Given the description of an element on the screen output the (x, y) to click on. 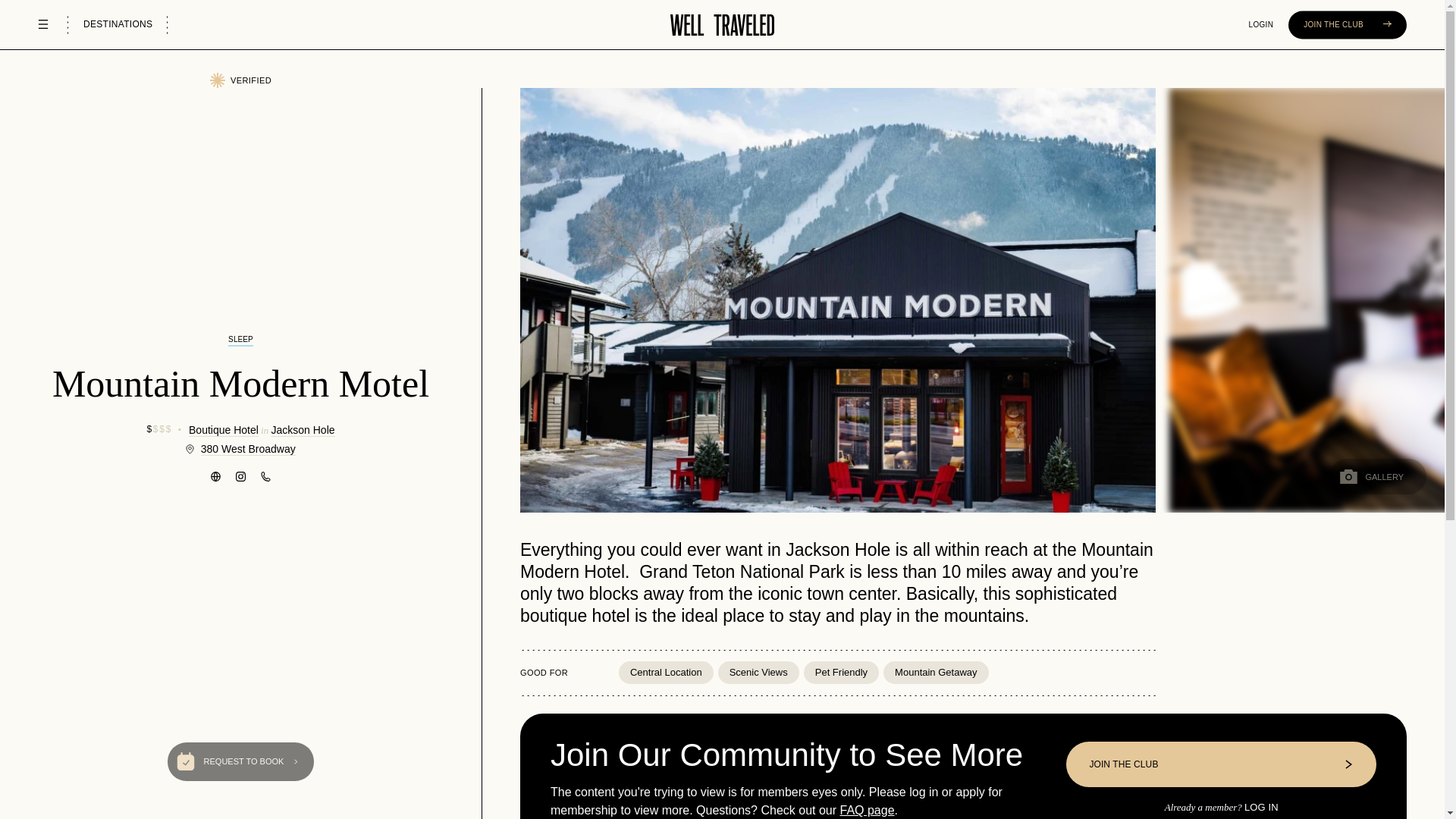
JOIN THE CLUB (1347, 24)
DESTINATIONS (117, 24)
LOGIN (1261, 24)
